Given the description of an element on the screen output the (x, y) to click on. 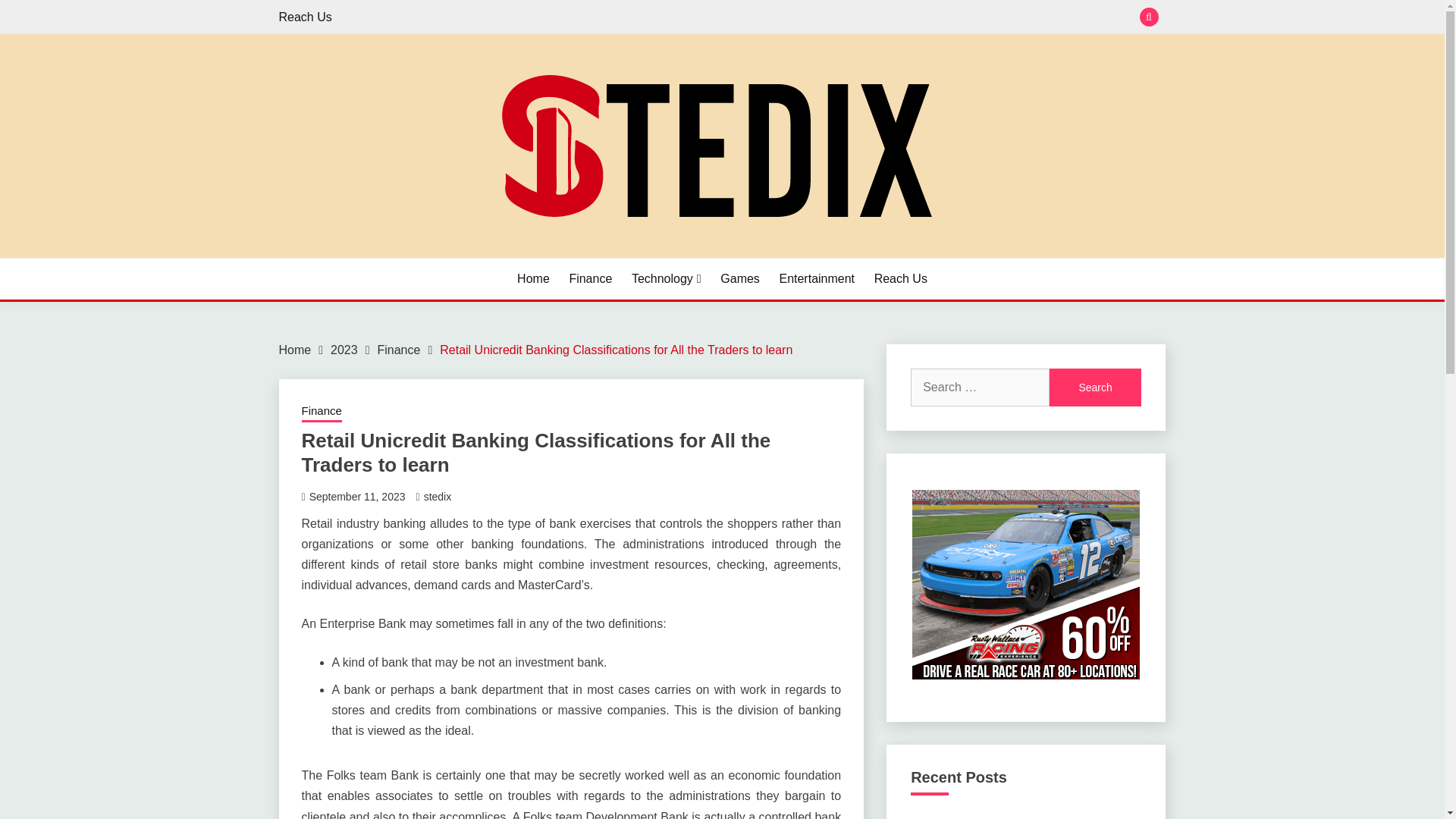
Home (533, 279)
Reach Us (305, 16)
2023 (344, 349)
Search (1095, 387)
Finance (321, 412)
stedix (437, 495)
Entertainment (816, 279)
Home (295, 349)
Search (832, 18)
Finance (398, 349)
Games (740, 279)
Search (1095, 387)
STEDIX (329, 255)
Reach Us (901, 279)
